Given the description of an element on the screen output the (x, y) to click on. 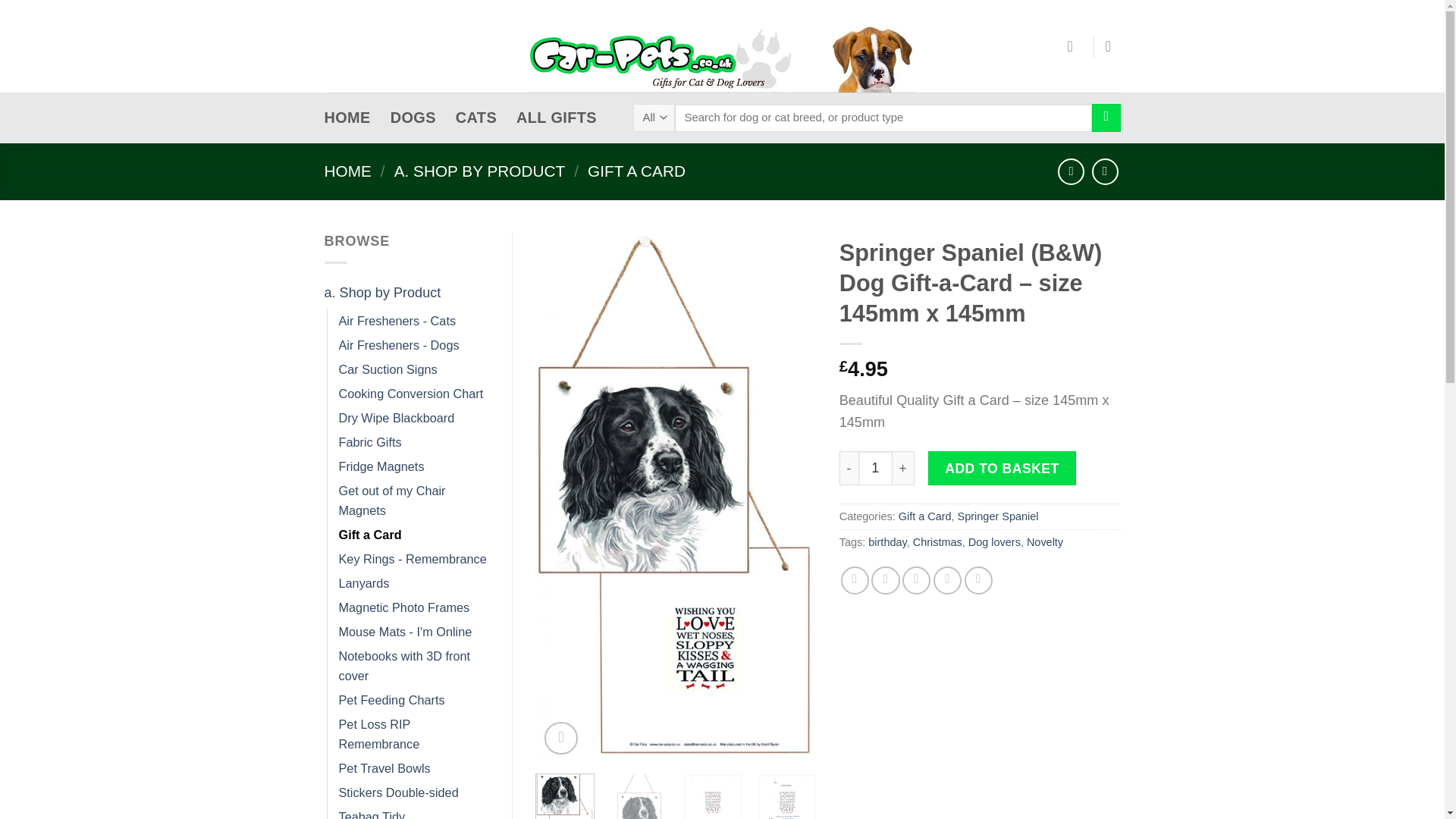
Share on Facebook (855, 580)
A. SHOP BY PRODUCT (480, 170)
Cooking Conversion Chart (410, 393)
ALL GIFTS (556, 117)
Car Suction Signs (386, 369)
Dry Wipe Blackboard (395, 417)
HOME (347, 117)
a. Shop by Product (406, 292)
Air Fresheners - Dogs (397, 344)
Fridge Magnets (380, 466)
Email to a Friend (916, 580)
Search (1105, 118)
HOME (347, 170)
DOGS (412, 117)
1 (875, 468)
